Given the description of an element on the screen output the (x, y) to click on. 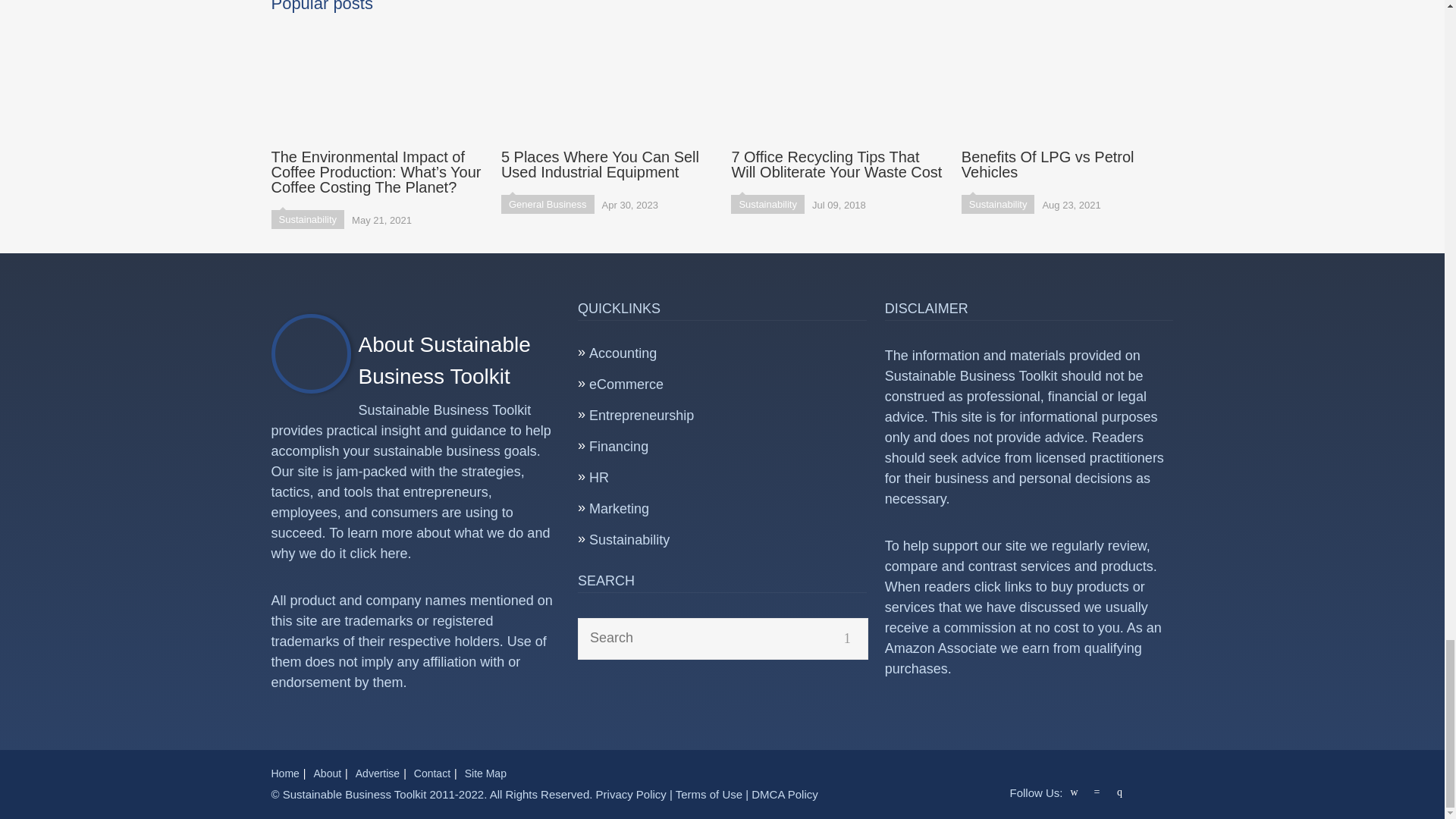
Sustainability (997, 203)
General Business (547, 203)
5 Places Where You Can Sell Used Industrial Equipment (606, 101)
Sustainability (767, 203)
Benefits Of LPG vs Petrol Vehicles (1066, 101)
7 Office Recycling Tips That Will Obliterate Your Waste Cost (836, 101)
Sustainability (307, 219)
